Given the description of an element on the screen output the (x, y) to click on. 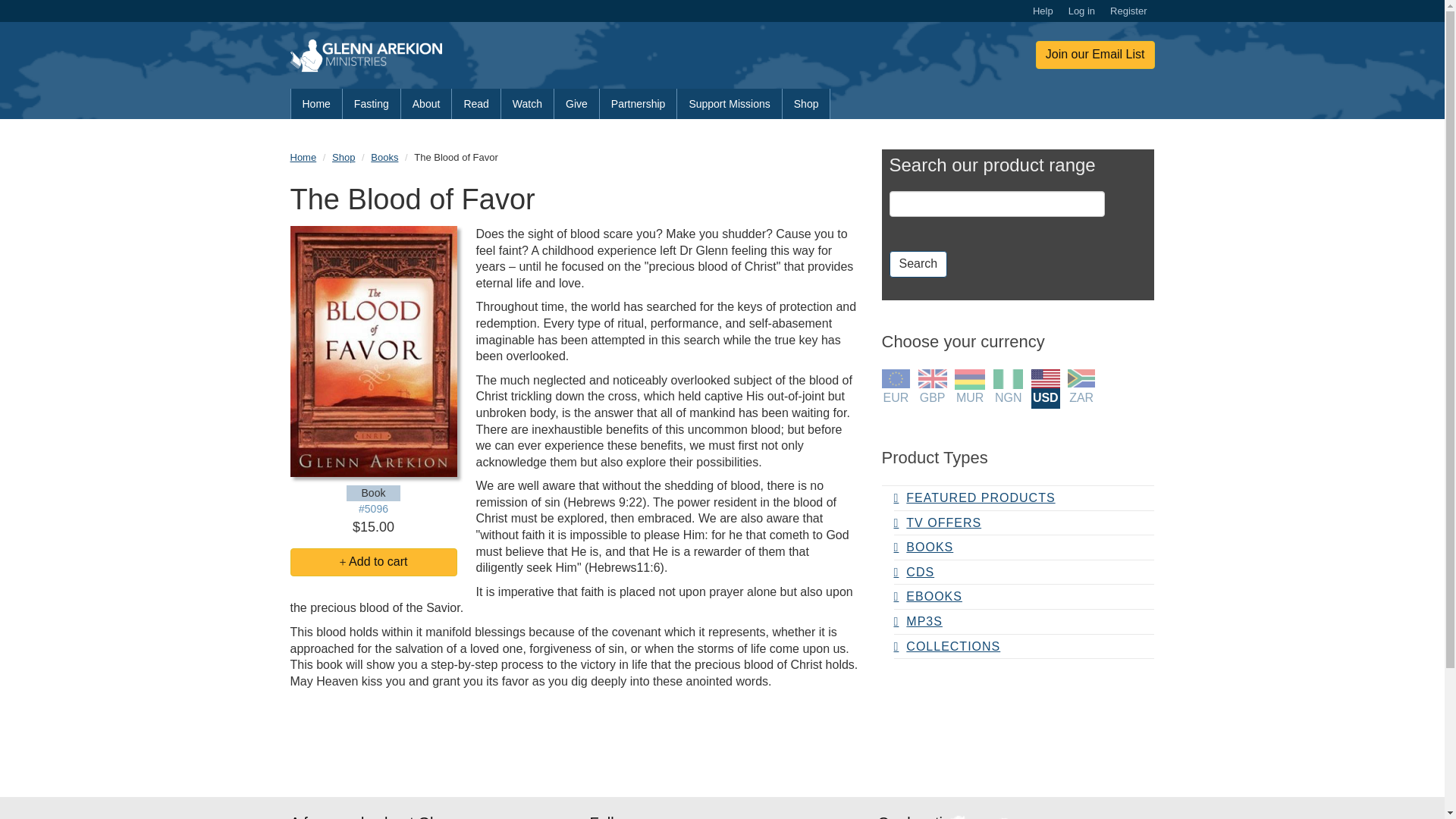
Books (384, 156)
Give (576, 103)
Home (315, 103)
Read (475, 103)
Help (1043, 11)
About (426, 103)
Watch (527, 103)
Support Missions (729, 103)
Add to cart (373, 561)
Join our Email List (1094, 54)
Fasting (371, 103)
Shop (343, 156)
Partnership (638, 103)
Search (917, 263)
Register (1128, 11)
